Given the description of an element on the screen output the (x, y) to click on. 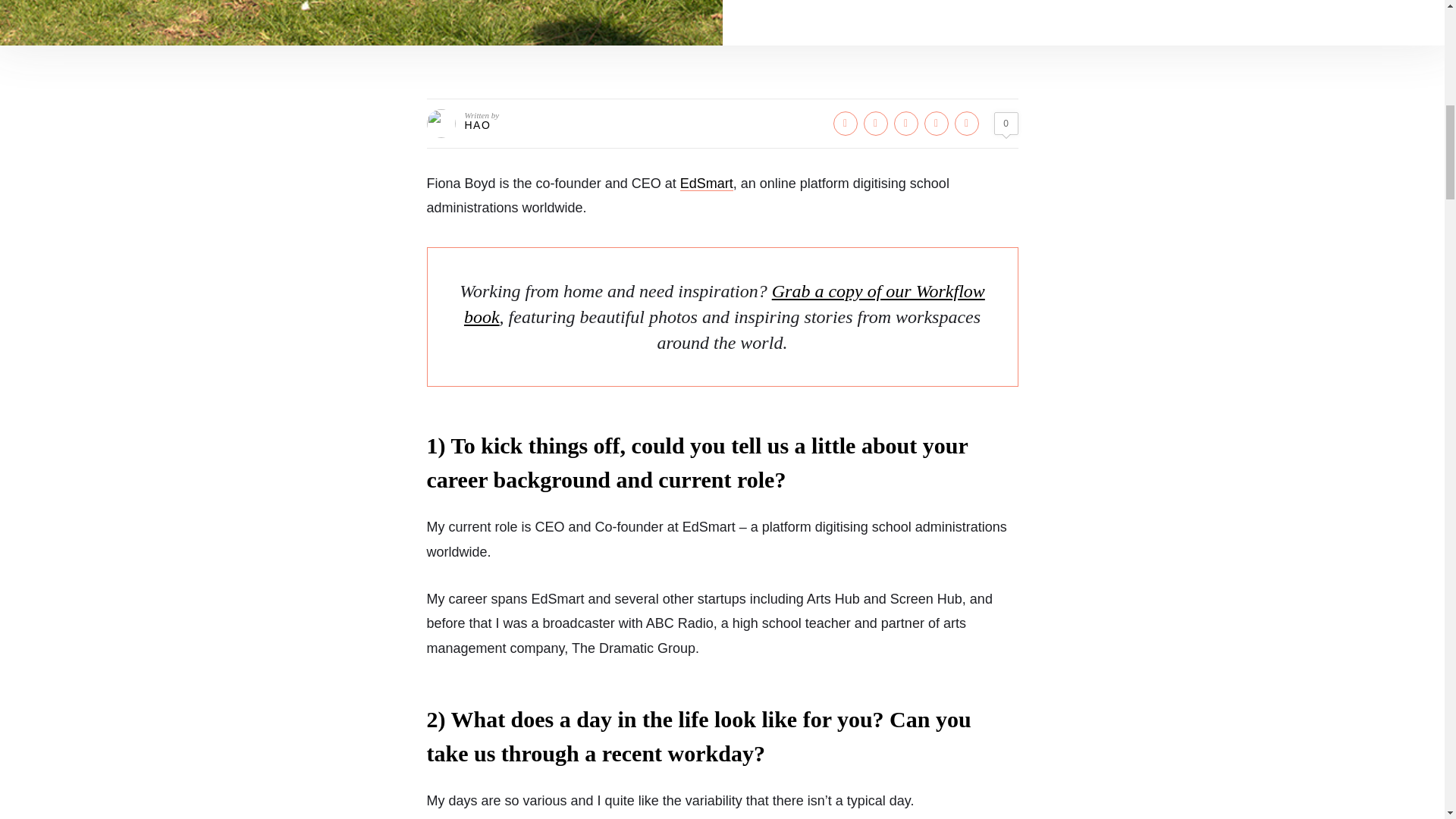
Posts by hao (477, 124)
